Given the description of an element on the screen output the (x, y) to click on. 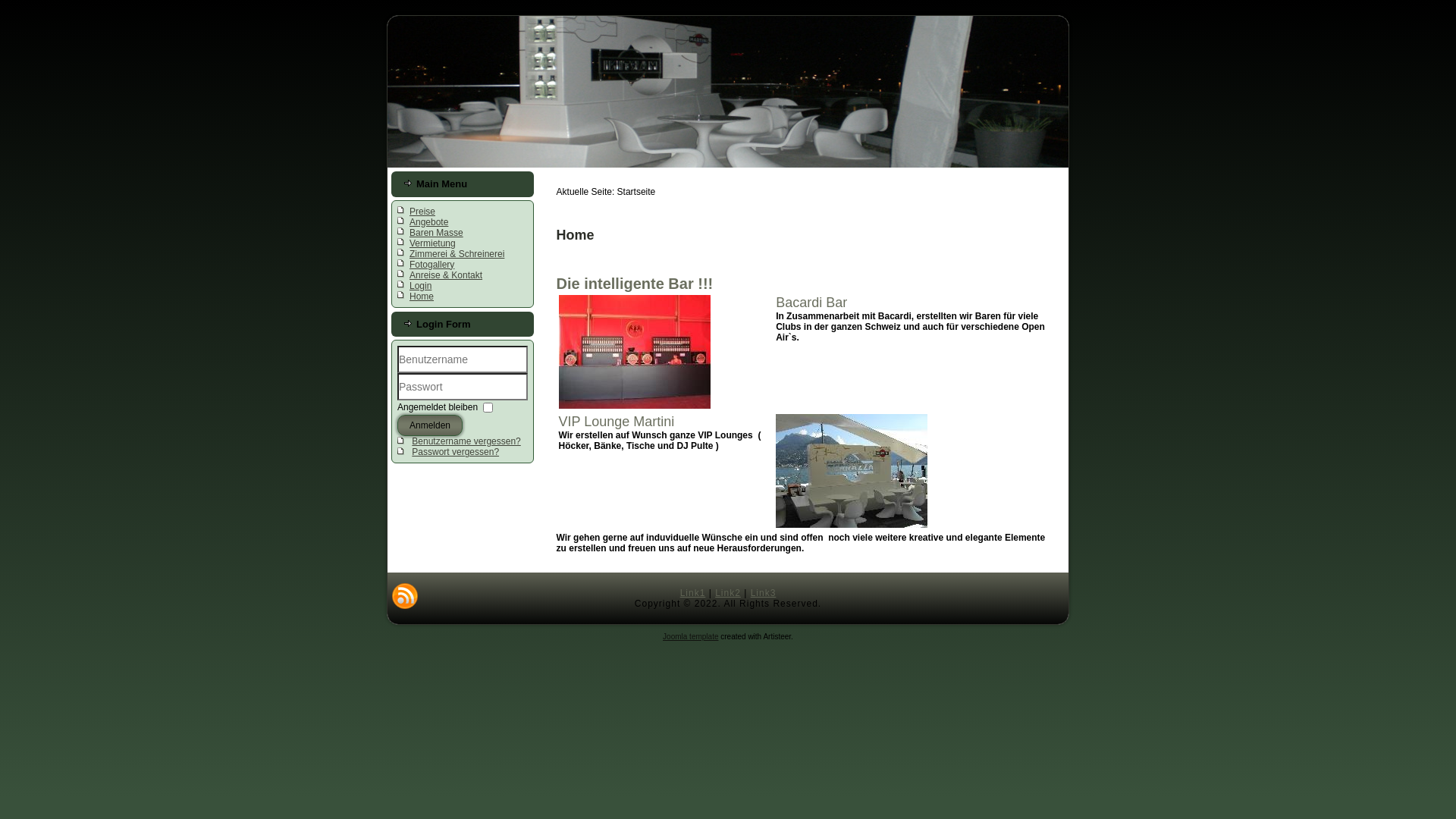
Anmelden Element type: text (429, 425)
Login Element type: text (420, 285)
Link2 Element type: text (727, 592)
Anreise & Kontakt Element type: text (445, 274)
Joomla template Element type: text (690, 636)
Zimmerei & Schreinerei Element type: text (456, 253)
Link1 Element type: text (693, 592)
Home Element type: text (421, 296)
Link3 Element type: text (763, 592)
Vermietung Element type: text (432, 243)
Benutzername vergessen? Element type: text (465, 441)
Baren Masse Element type: text (436, 232)
Fotogallery Element type: text (431, 264)
Angebote Element type: text (428, 221)
Preise Element type: text (422, 211)
RSS Element type: hover (404, 595)
Passwort vergessen? Element type: text (454, 451)
